Given the description of an element on the screen output the (x, y) to click on. 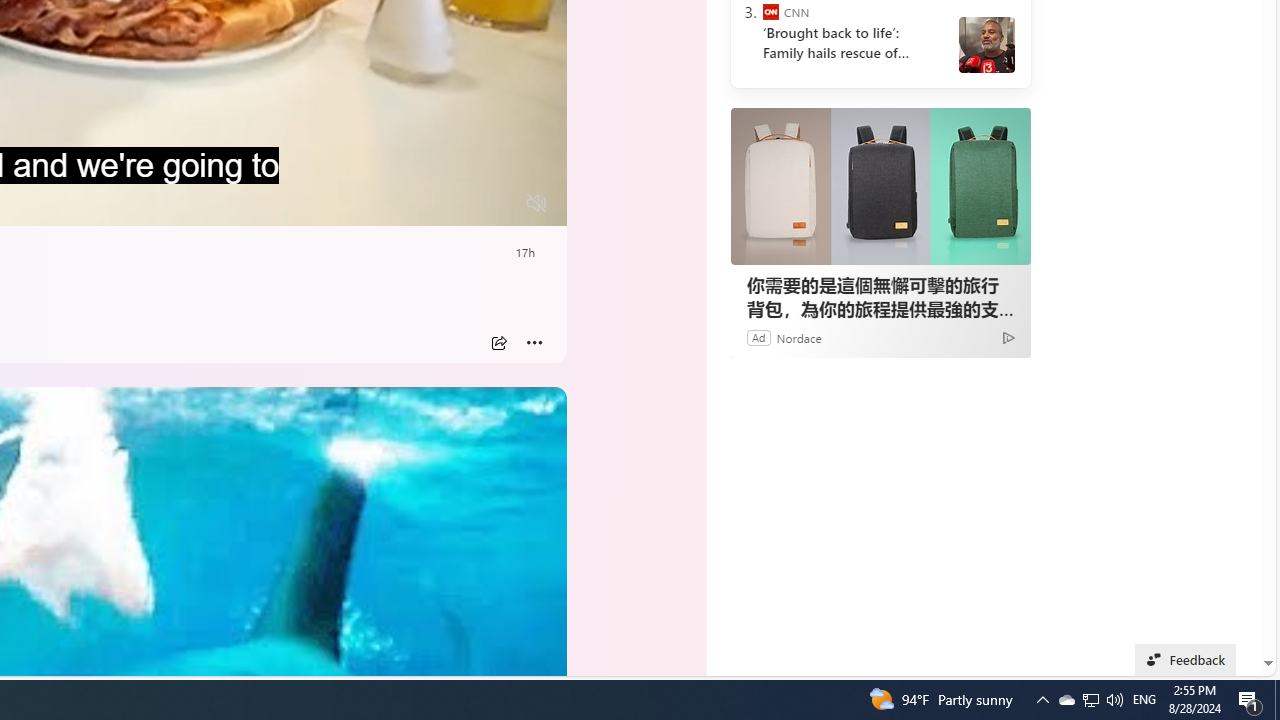
More (534, 343)
Ad Choice (1008, 336)
Share (498, 343)
